Given the description of an element on the screen output the (x, y) to click on. 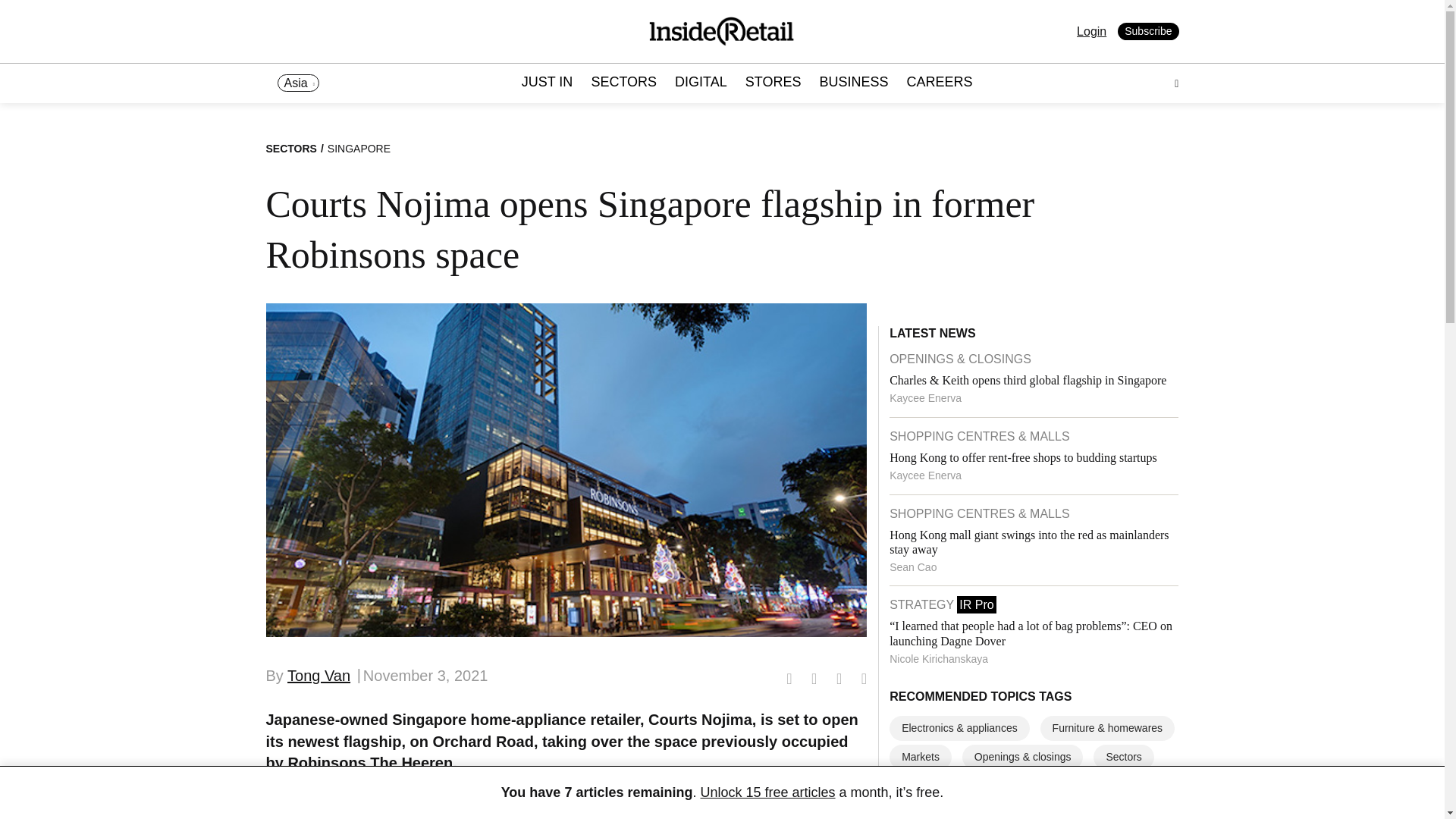
Sectors (1123, 756)
Subscribe (1147, 31)
DIGITAL (700, 83)
Asia (298, 82)
Markets (920, 756)
Singapore (925, 785)
Stores (999, 785)
JUST IN (547, 83)
Login (1091, 31)
SECTORS (623, 83)
